Given the description of an element on the screen output the (x, y) to click on. 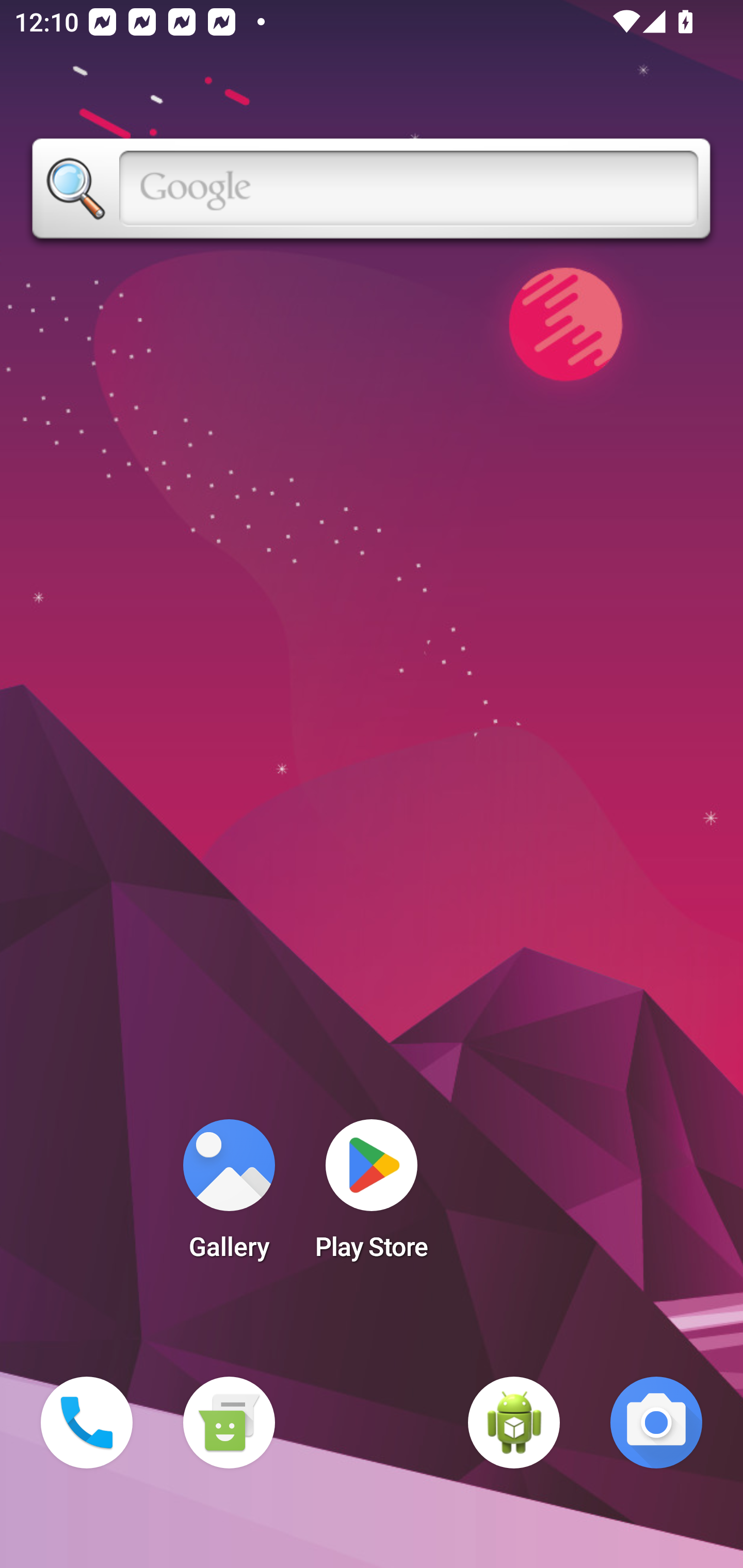
Gallery (228, 1195)
Play Store (371, 1195)
Phone (86, 1422)
Messaging (228, 1422)
WebView Browser Tester (513, 1422)
Camera (656, 1422)
